Given the description of an element on the screen output the (x, y) to click on. 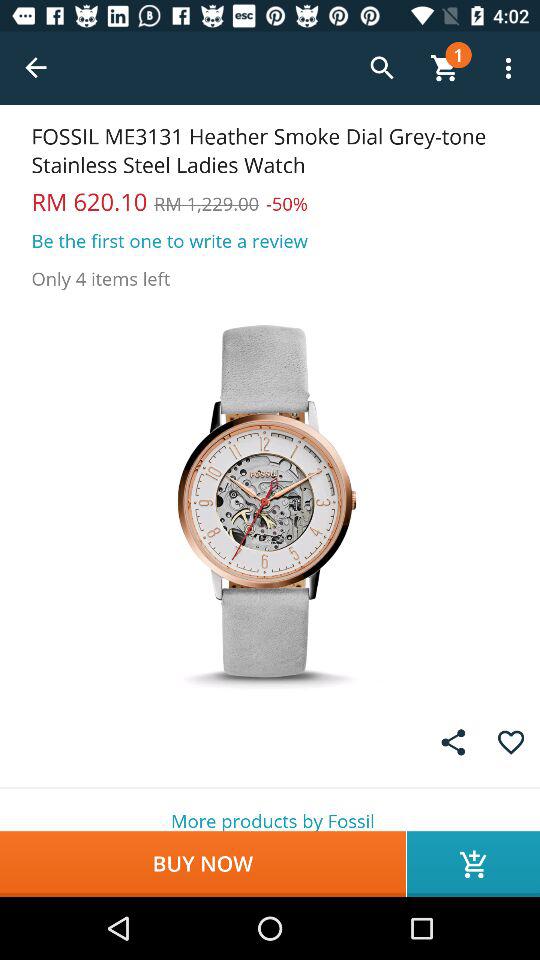
emotion symbol (510, 742)
